Given the description of an element on the screen output the (x, y) to click on. 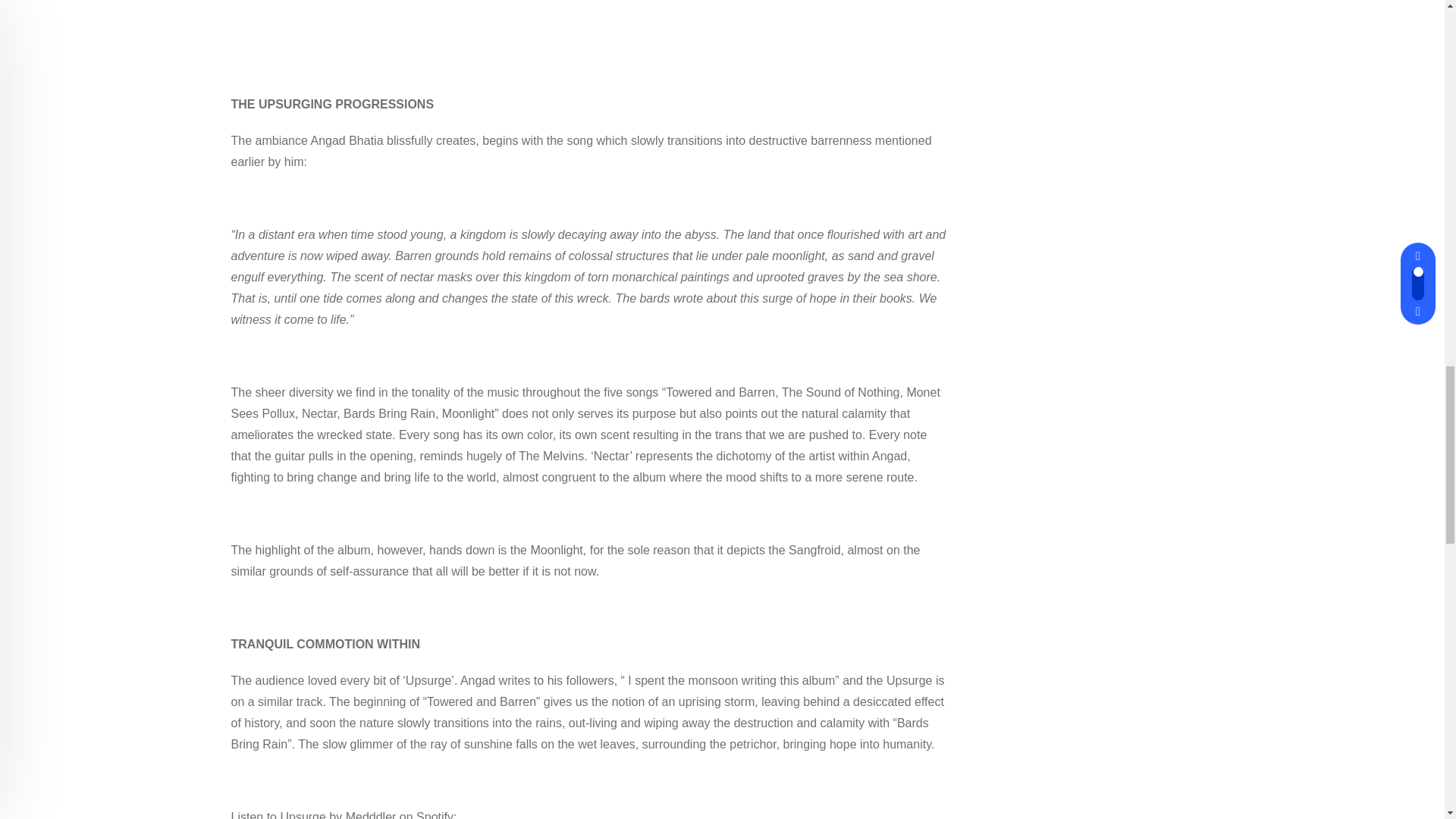
YouTube video player (442, 18)
